Given the description of an element on the screen output the (x, y) to click on. 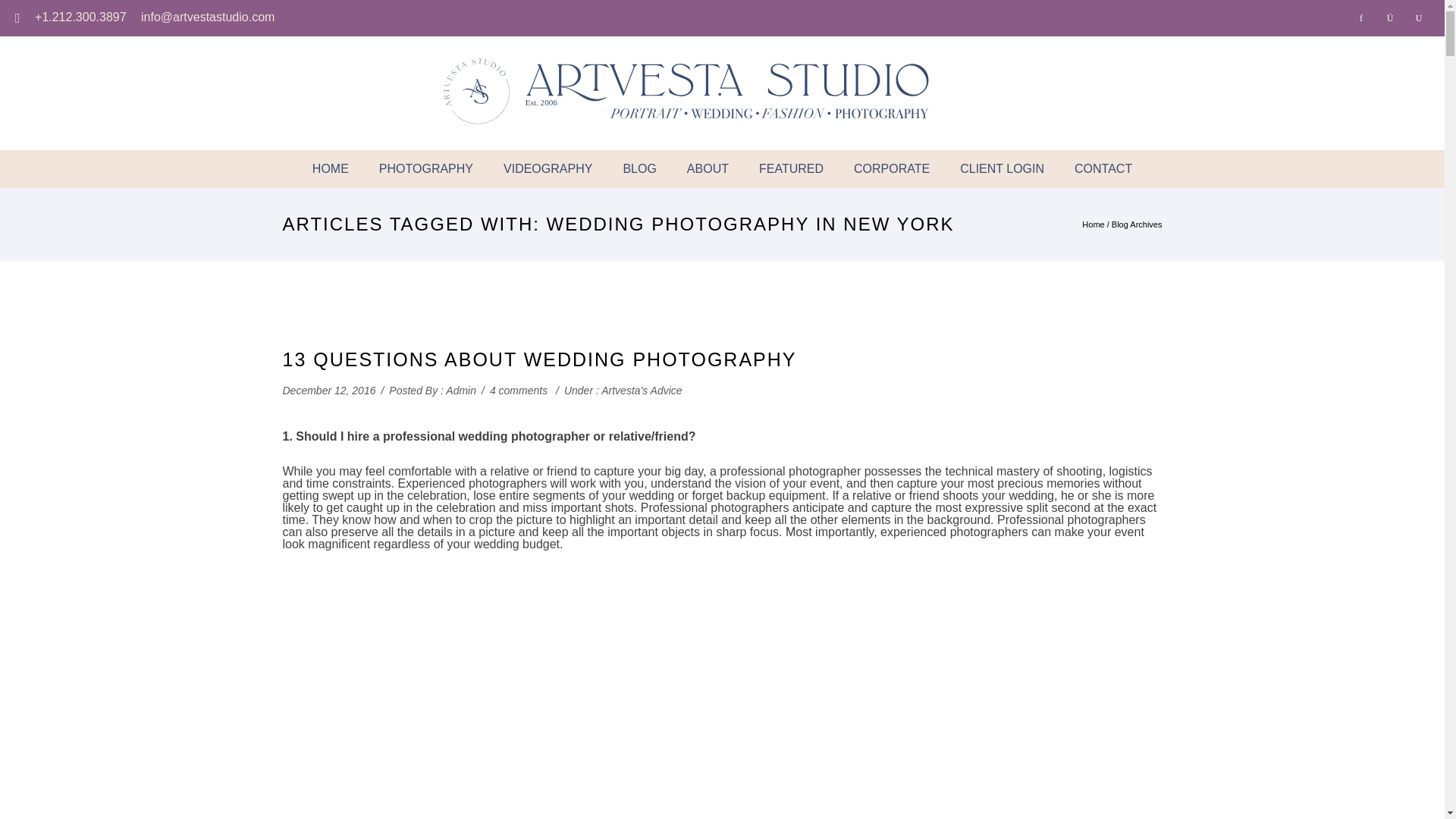
13 QUESTIONS ABOUT WEDDING PHOTOGRAPHY (539, 358)
Home (1092, 224)
Photography (425, 169)
Artvesta's Advice (641, 390)
BLOG (639, 169)
CORPORATE (891, 169)
CLIENT LOGIN (1001, 169)
FEATURED (791, 169)
HOME (330, 169)
VIDEOGRAPHY (547, 169)
Home (330, 169)
ABOUT (707, 169)
ABOUT (707, 169)
4 comments (518, 390)
Featured (791, 169)
